Given the description of an element on the screen output the (x, y) to click on. 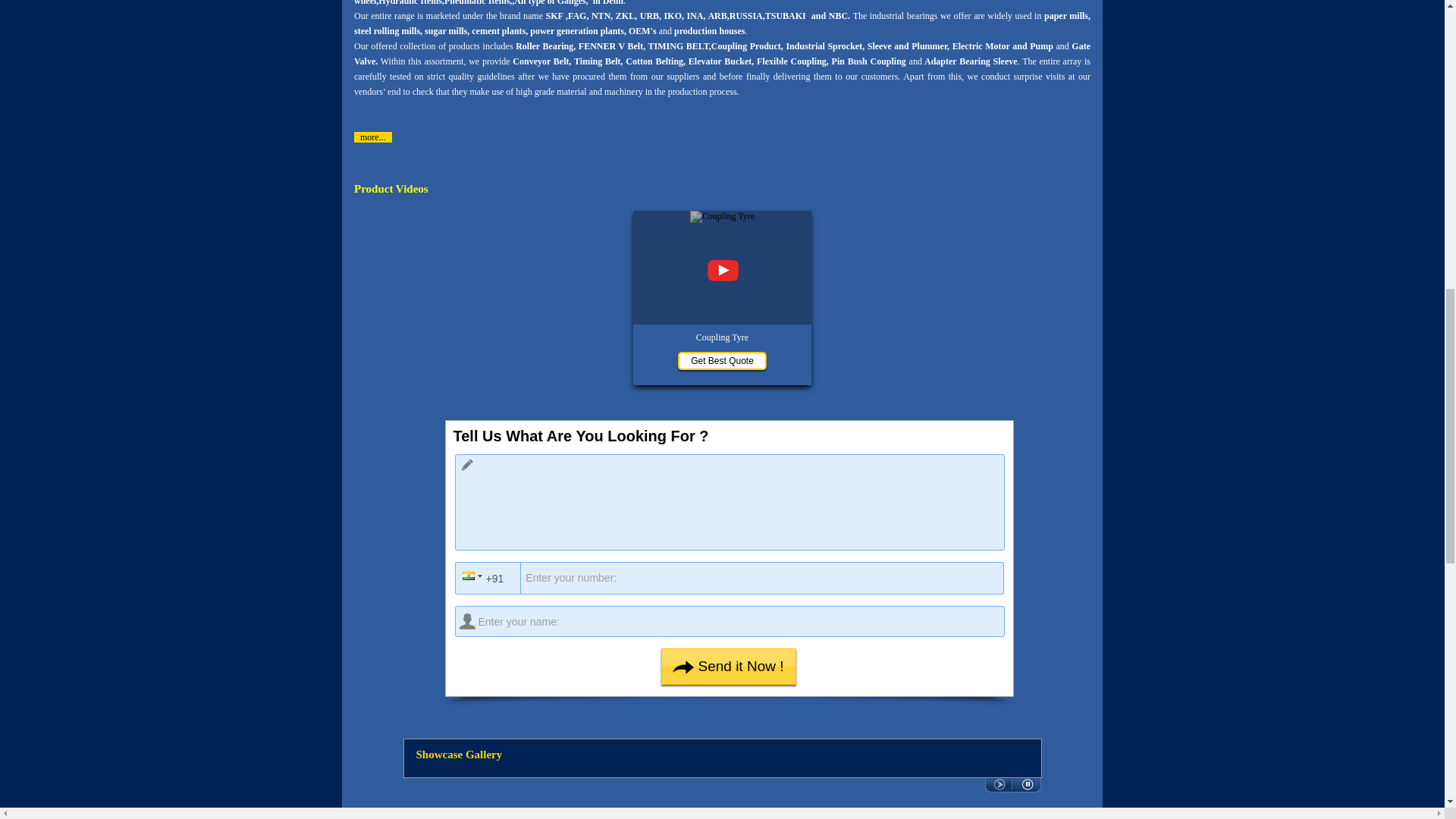
Send it Now ! (728, 666)
Enter your number: (733, 577)
Enter your name: (729, 621)
